Given the description of an element on the screen output the (x, y) to click on. 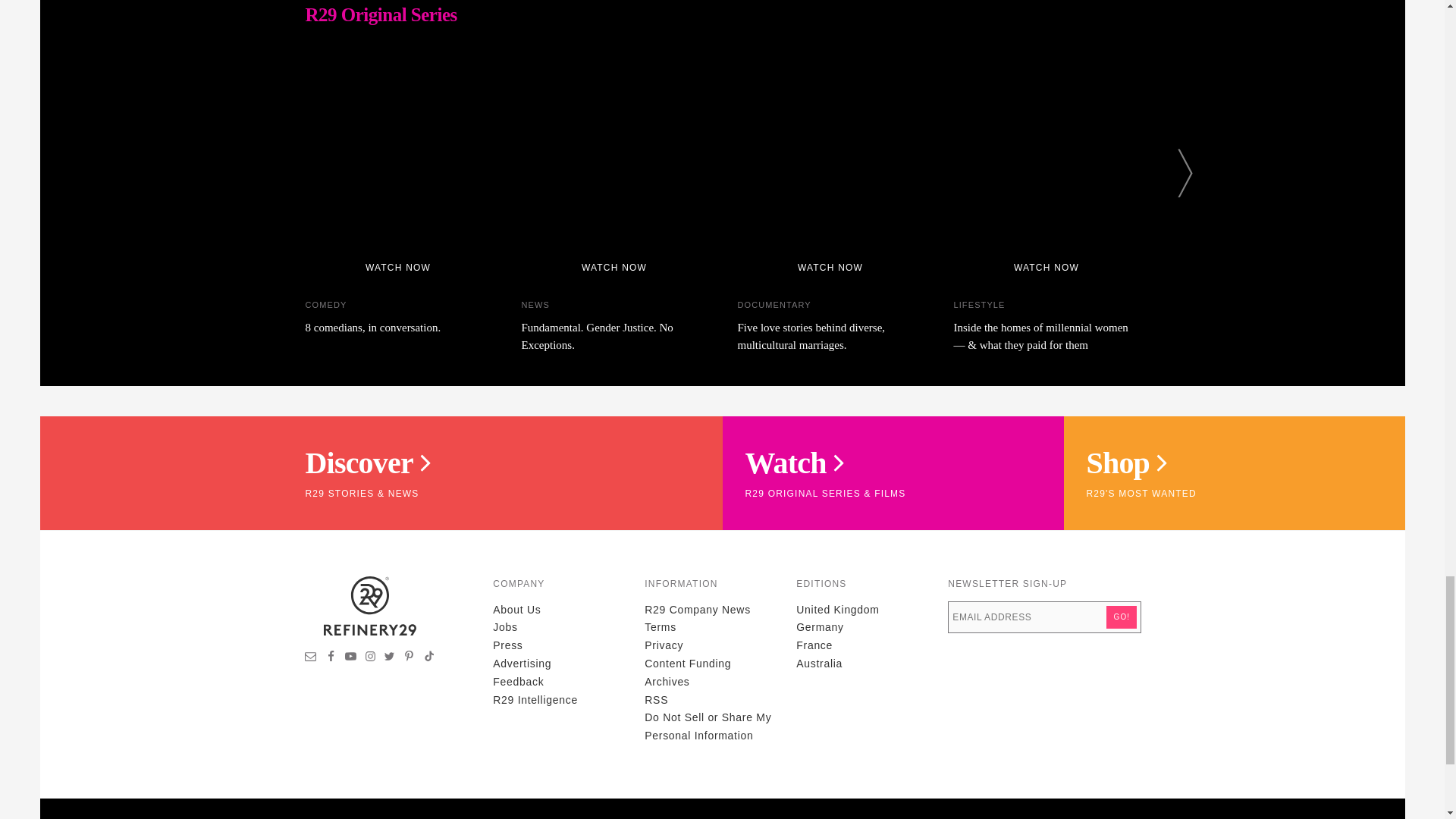
Visit Refinery29 on YouTube (350, 657)
Sign up for newsletters (310, 657)
